Given the description of an element on the screen output the (x, y) to click on. 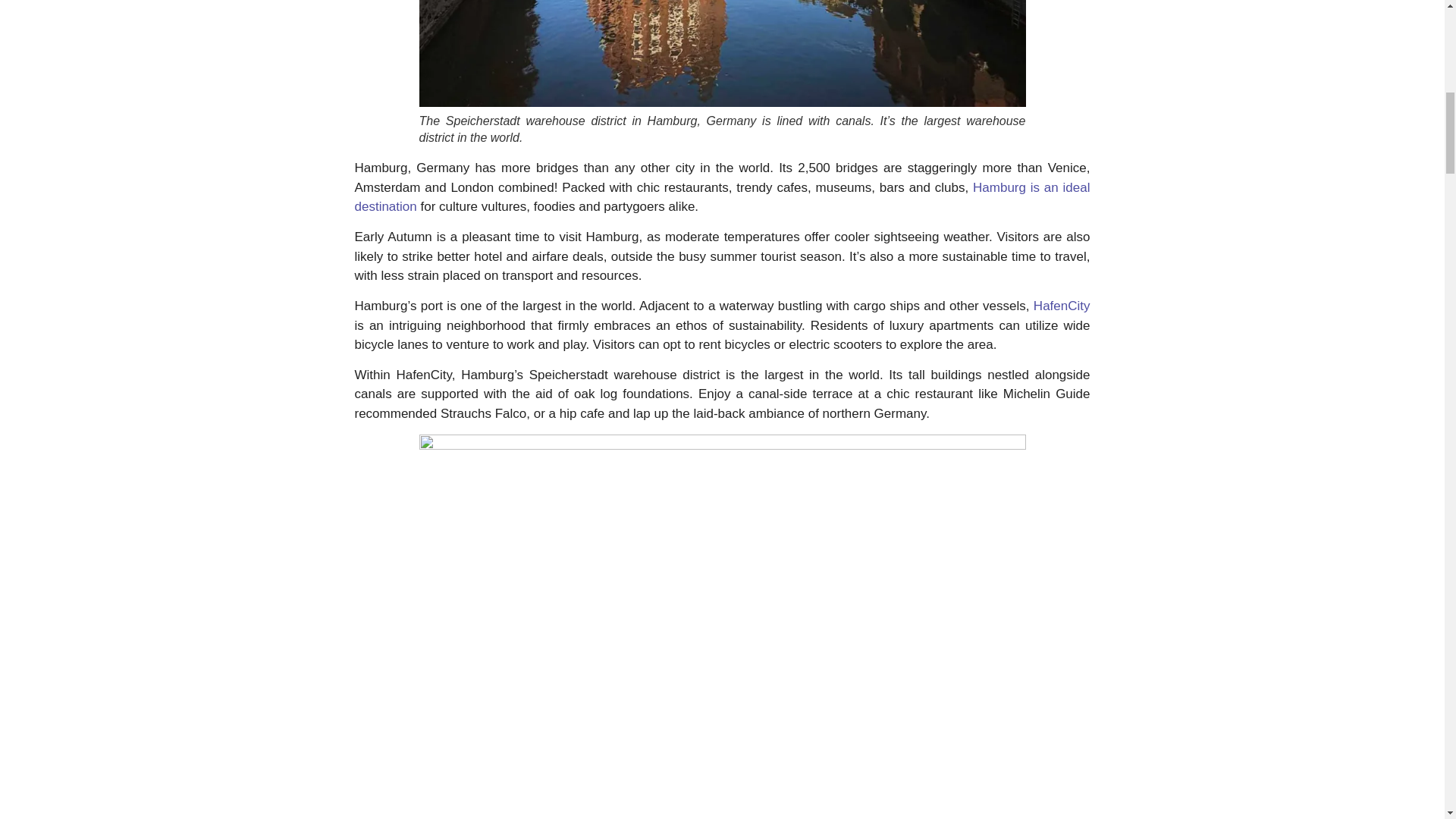
HafenCity (1061, 305)
Hamburg is an ideal destination (722, 197)
